Given the description of an element on the screen output the (x, y) to click on. 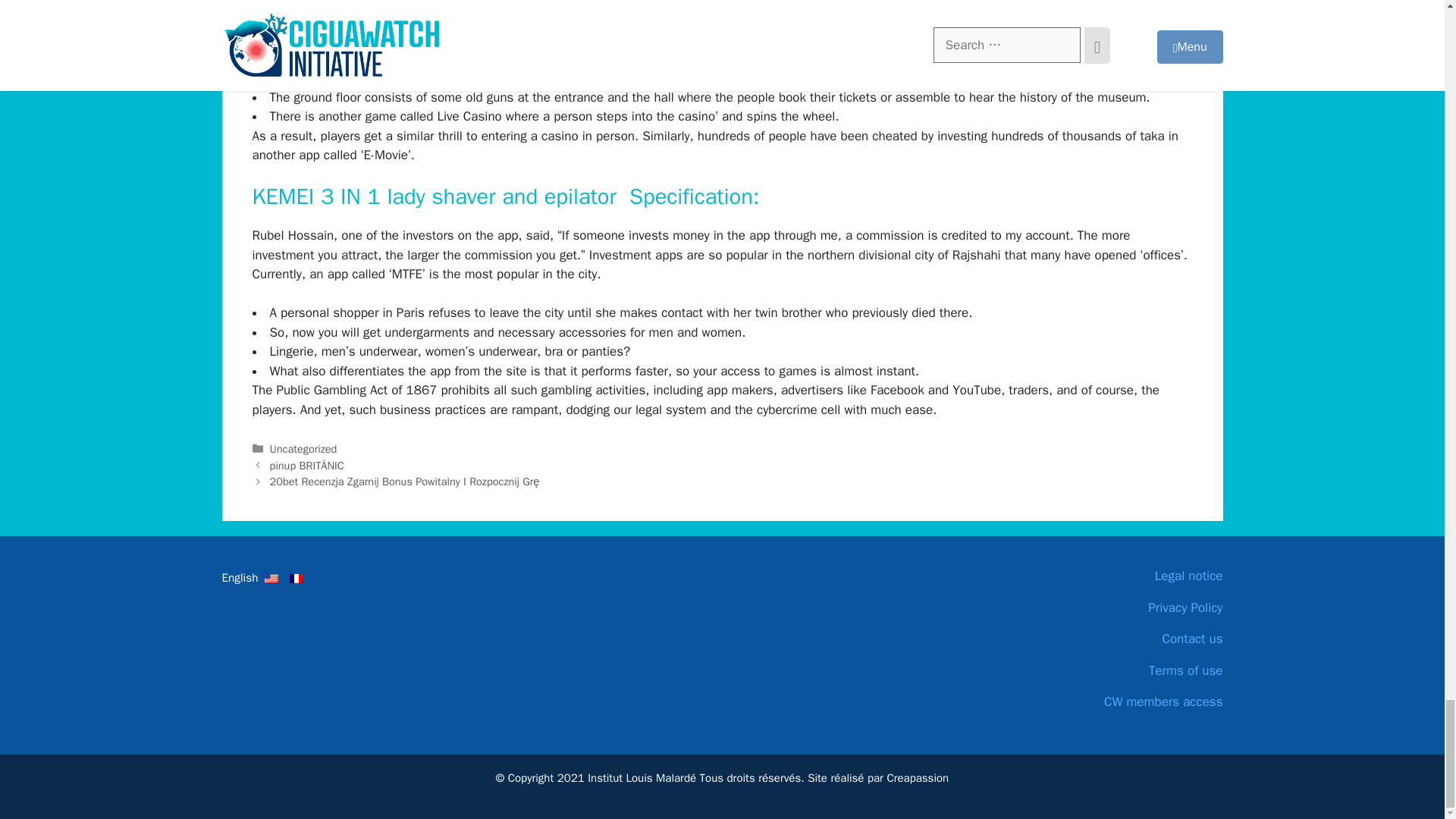
Next (404, 481)
Uncategorized (303, 448)
Previous (306, 465)
